Given the description of an element on the screen output the (x, y) to click on. 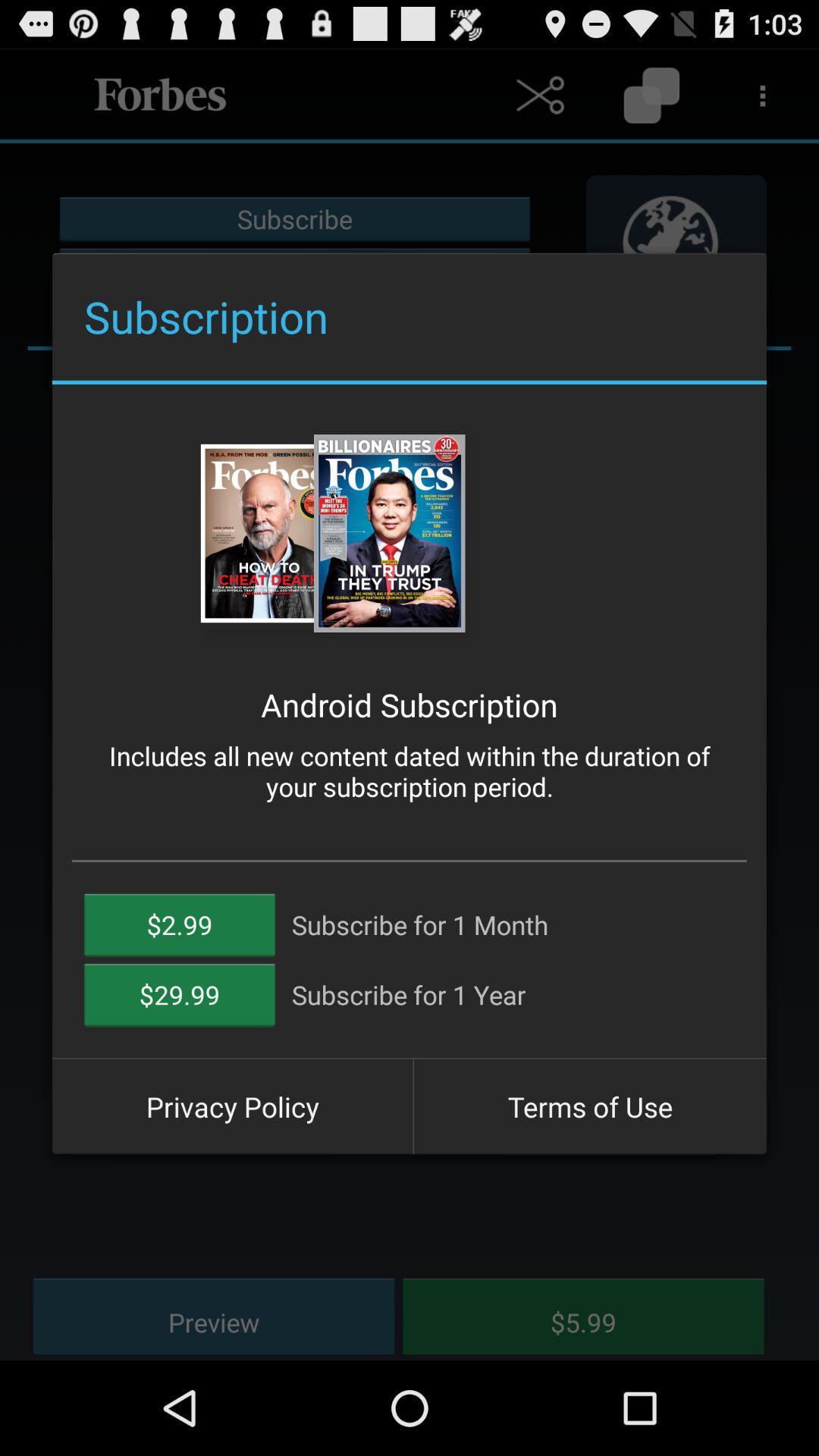
open item to the right of the privacy policy (590, 1106)
